Given the description of an element on the screen output the (x, y) to click on. 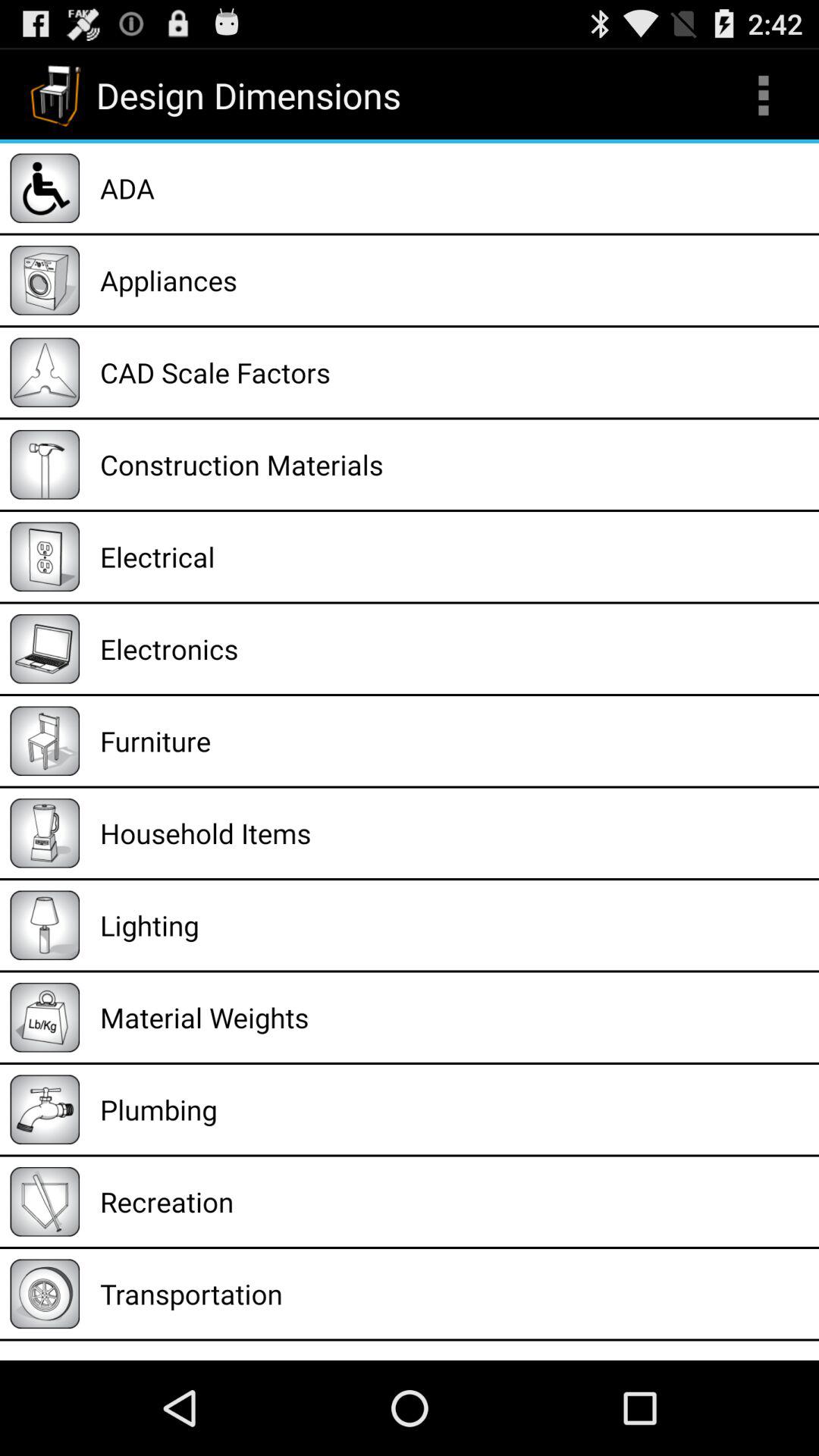
launch the electronics (454, 648)
